Given the description of an element on the screen output the (x, y) to click on. 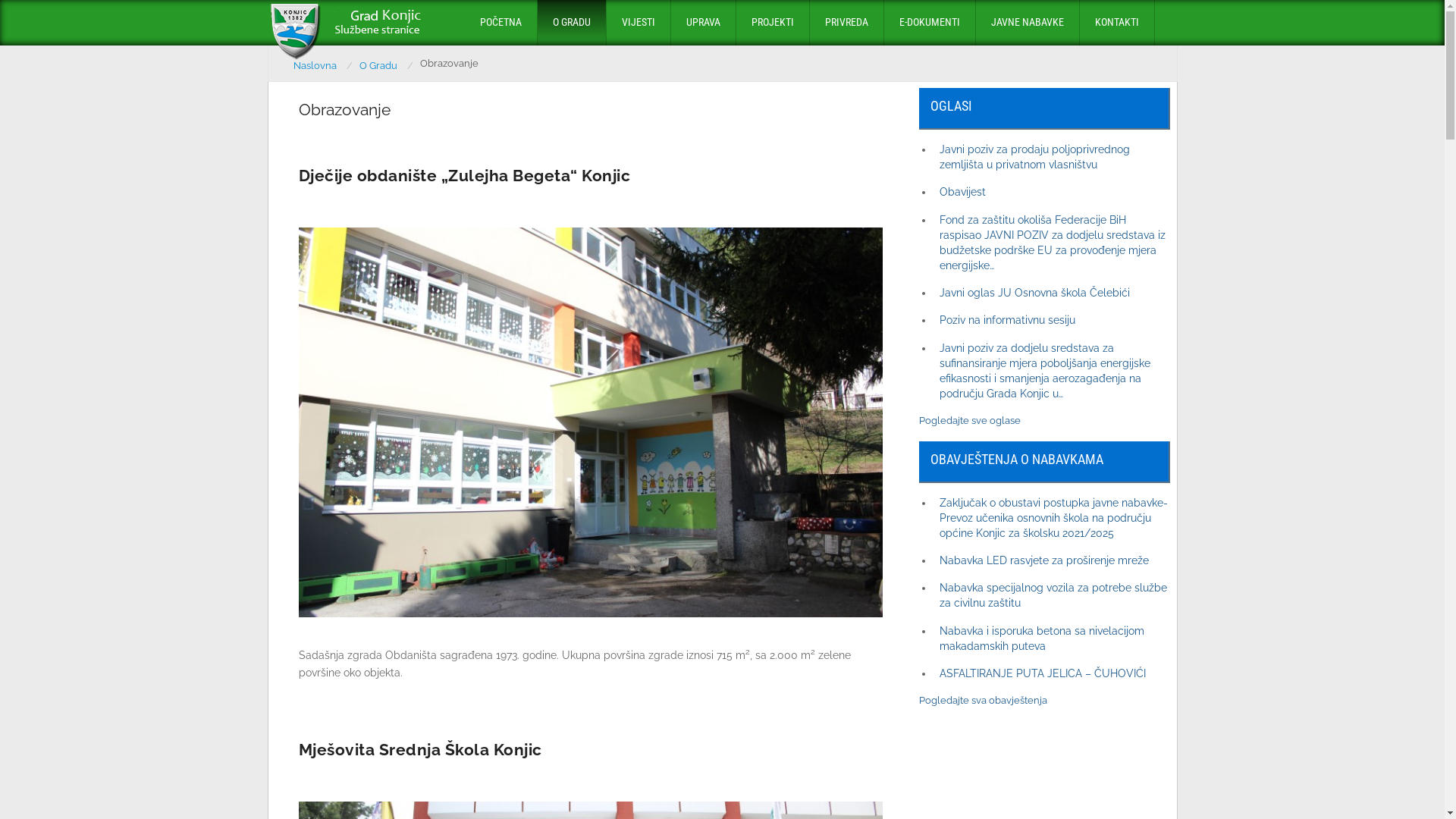
Nabavka i isporuka betona sa nivelacijom makadamskih puteva Element type: text (1041, 638)
UPRAVA Element type: text (702, 22)
O Gradu Element type: text (386, 65)
VIJESTI Element type: text (638, 22)
Poziv na informativnu sesiju Element type: text (1007, 319)
Naslovna Element type: text (322, 65)
Obavijest Element type: text (962, 191)
PROJEKTI Element type: text (771, 22)
Pogledajte sve oglase Element type: text (969, 420)
E-DOKUMENTI Element type: text (929, 22)
O GRADU Element type: text (570, 22)
KONTAKTI Element type: text (1116, 22)
JAVNE NABAVKE Element type: text (1026, 22)
PRIVREDA Element type: text (846, 22)
